Given the description of an element on the screen output the (x, y) to click on. 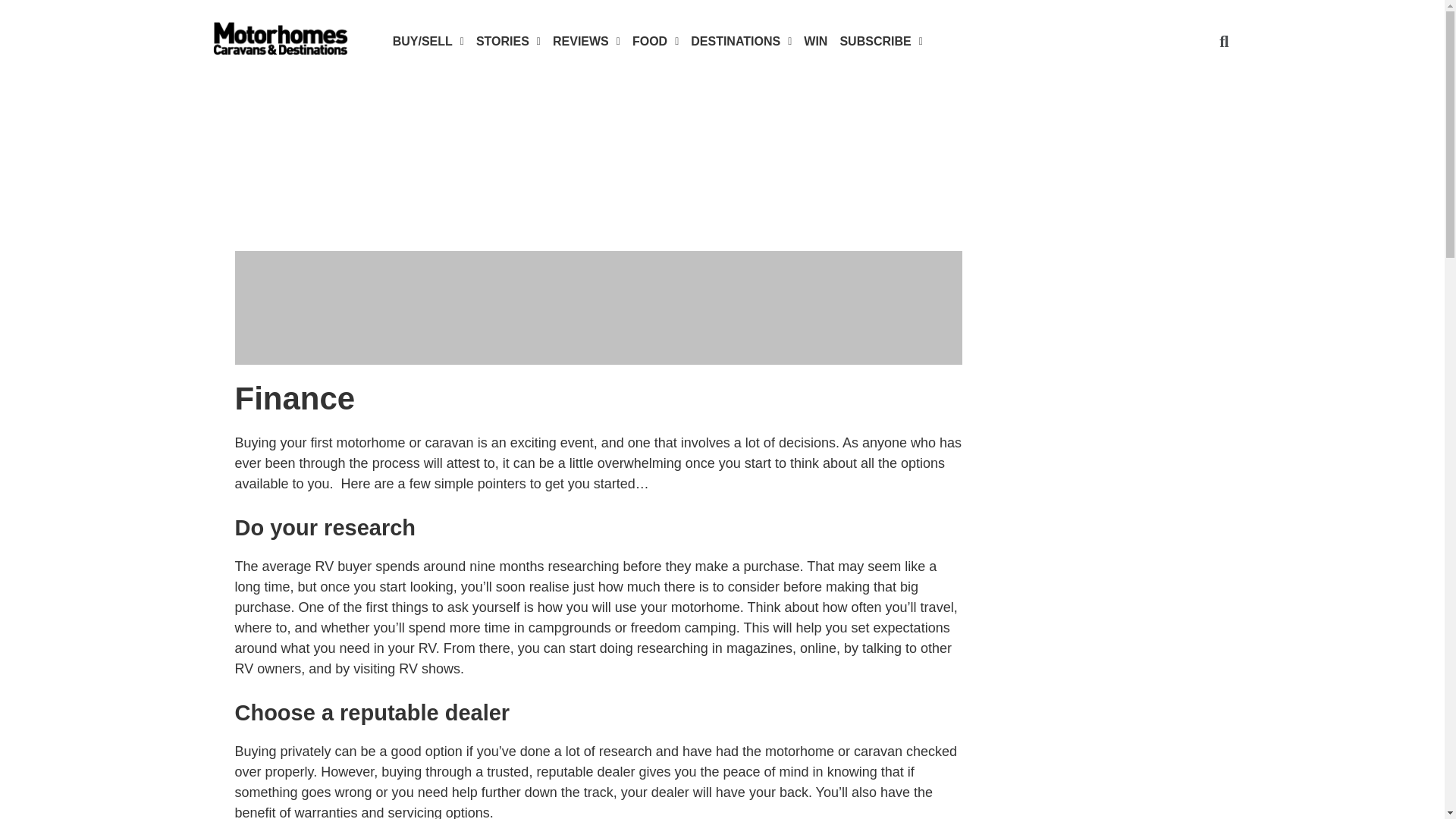
FOOD (655, 41)
DESTINATIONS (740, 41)
3rd party ad content (598, 193)
STORIES (508, 41)
REVIEWS (586, 41)
